Given the description of an element on the screen output the (x, y) to click on. 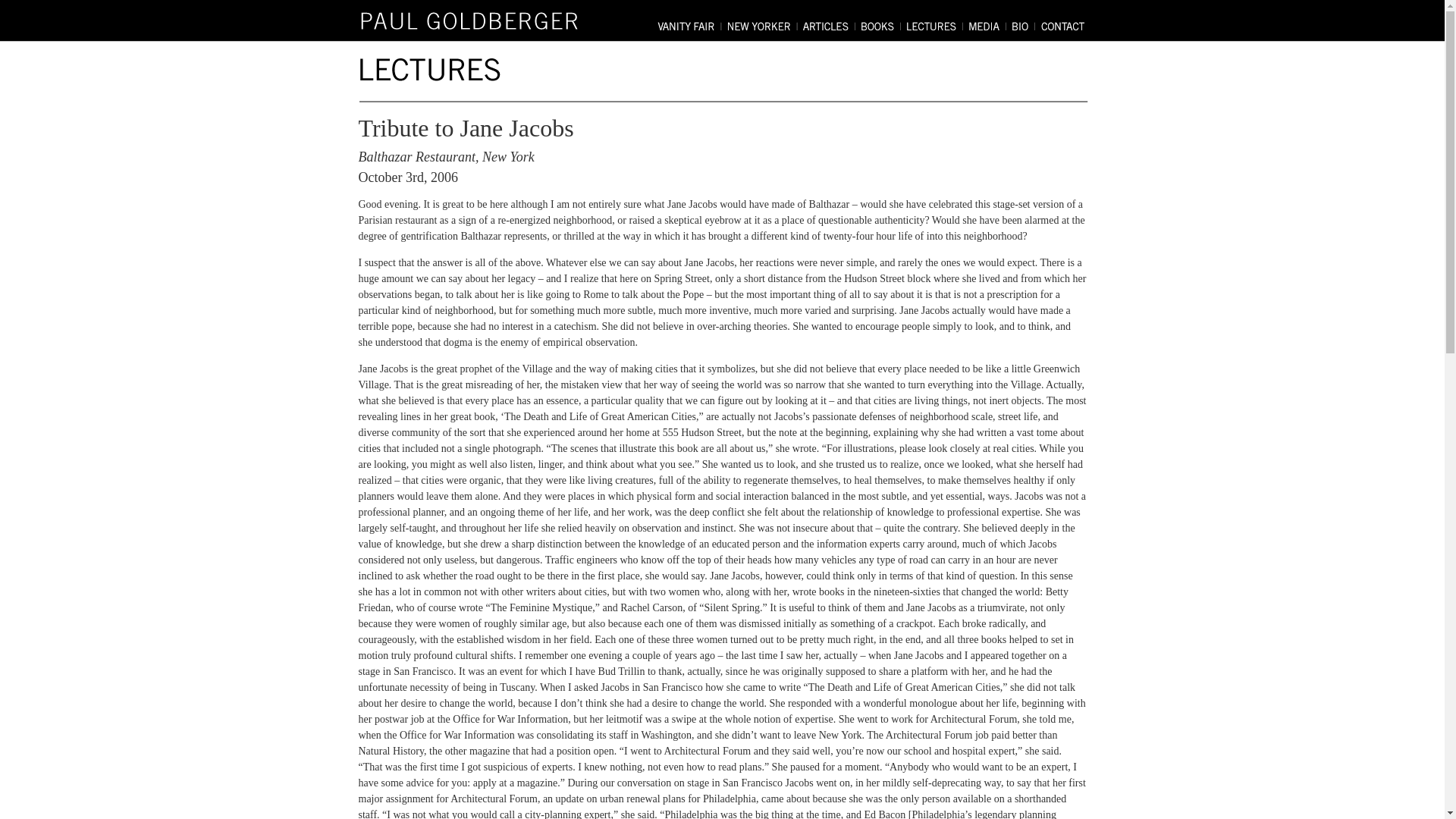
Contact (1062, 25)
From The New Yorker (762, 25)
From Vanity Fair (690, 25)
Media (987, 25)
Other Articles (829, 25)
Lectures (935, 25)
Books (880, 25)
Biography (1023, 25)
